Given the description of an element on the screen output the (x, y) to click on. 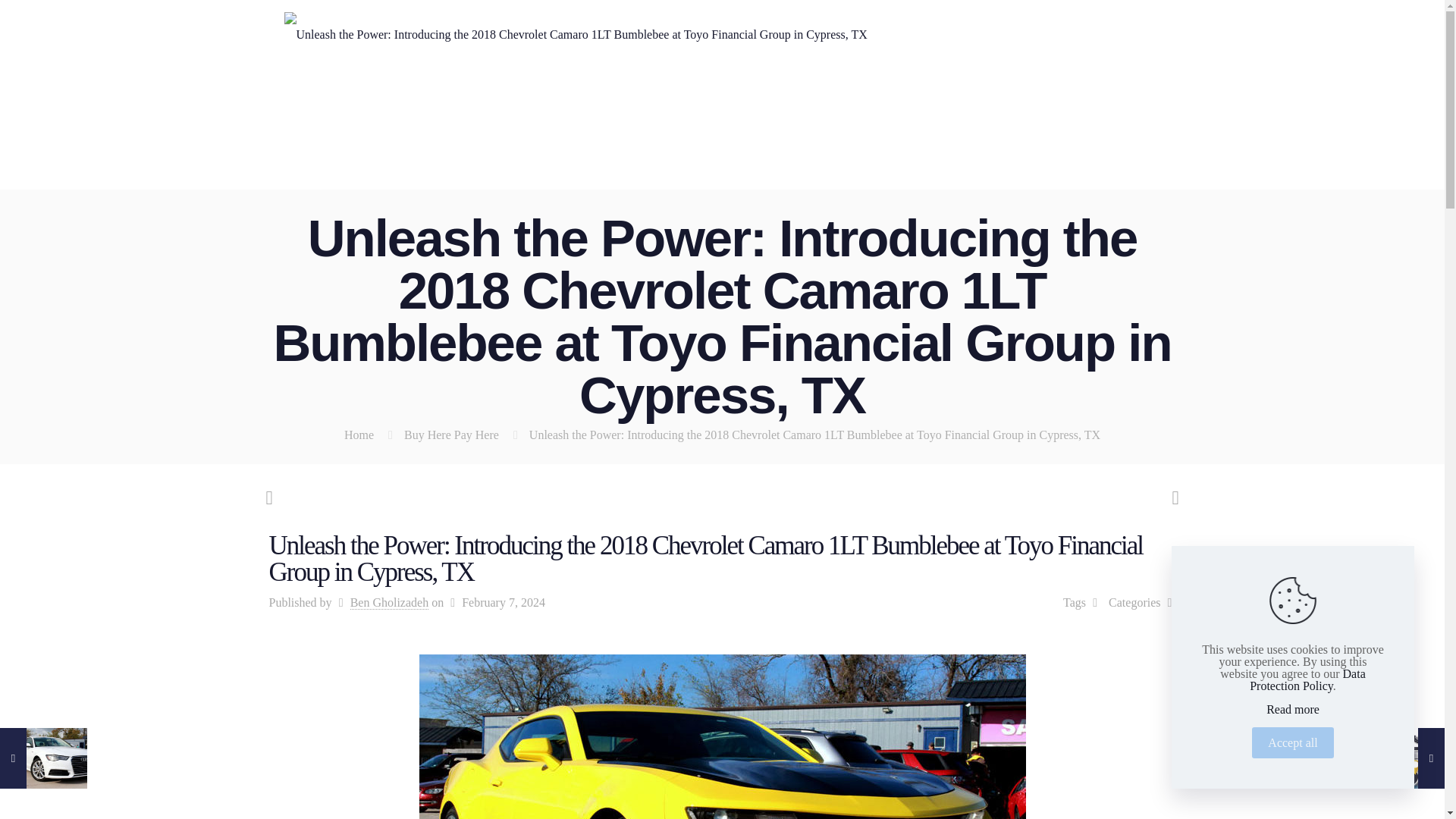
Buy Here Pay Here (451, 434)
Ben Gholizadeh (389, 602)
Toyo Financial Group Blog (574, 33)
Home (358, 434)
